Given the description of an element on the screen output the (x, y) to click on. 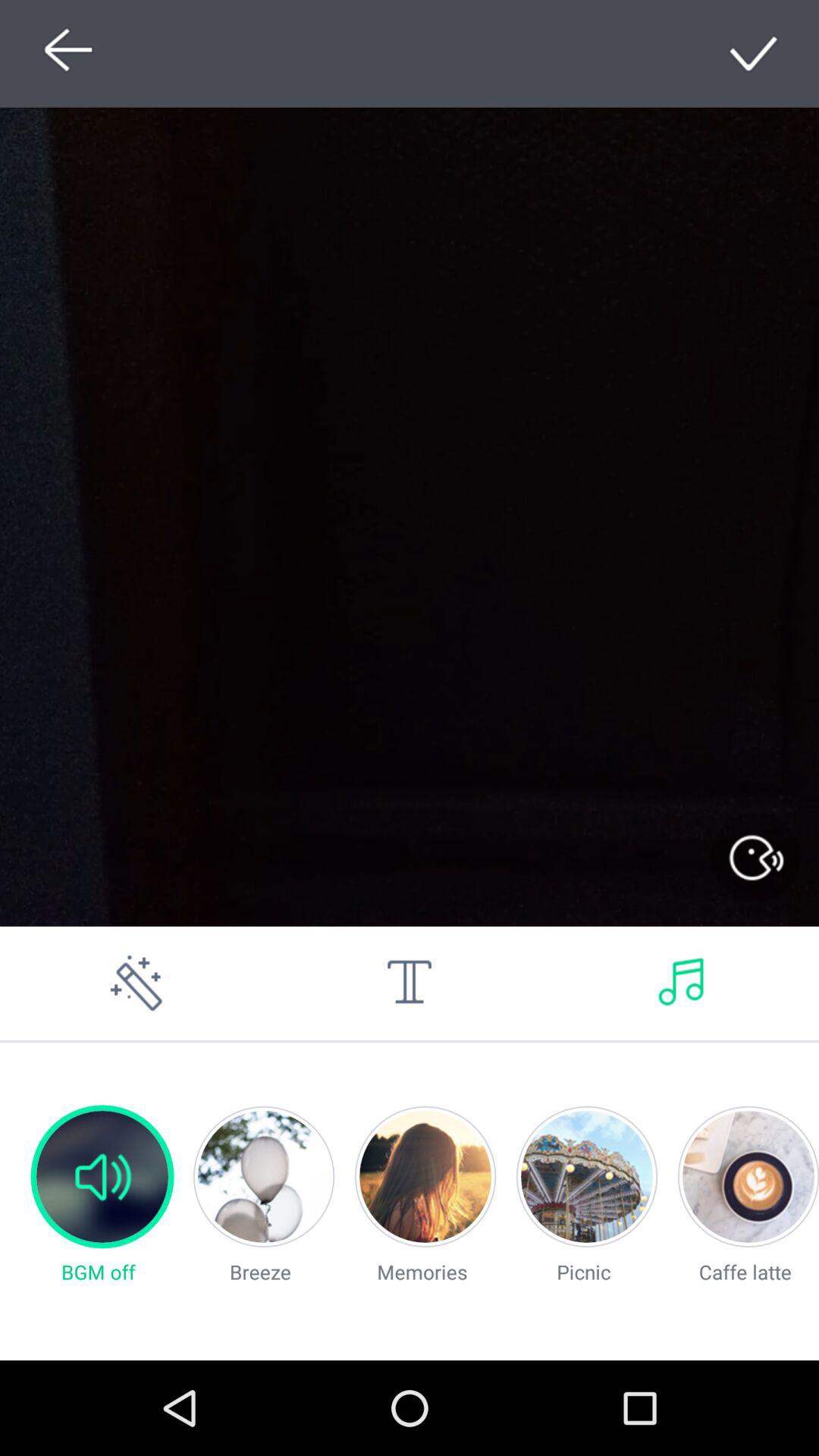
switch to music button (682, 983)
